Given the description of an element on the screen output the (x, y) to click on. 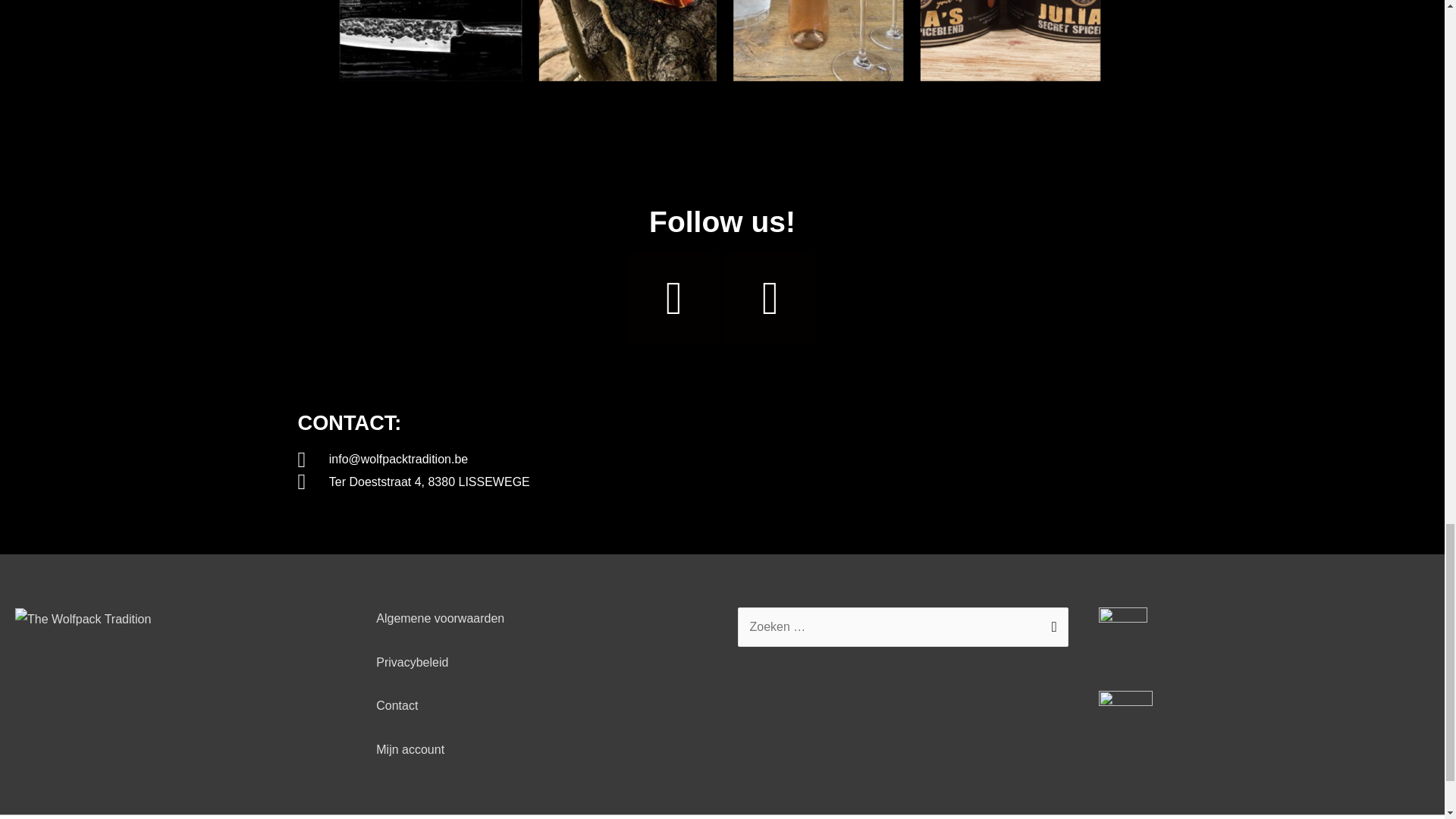
Contact (396, 705)
Algemene voorwaarden (439, 617)
Privacybeleid (411, 662)
Mijn account (409, 748)
